Given the description of an element on the screen output the (x, y) to click on. 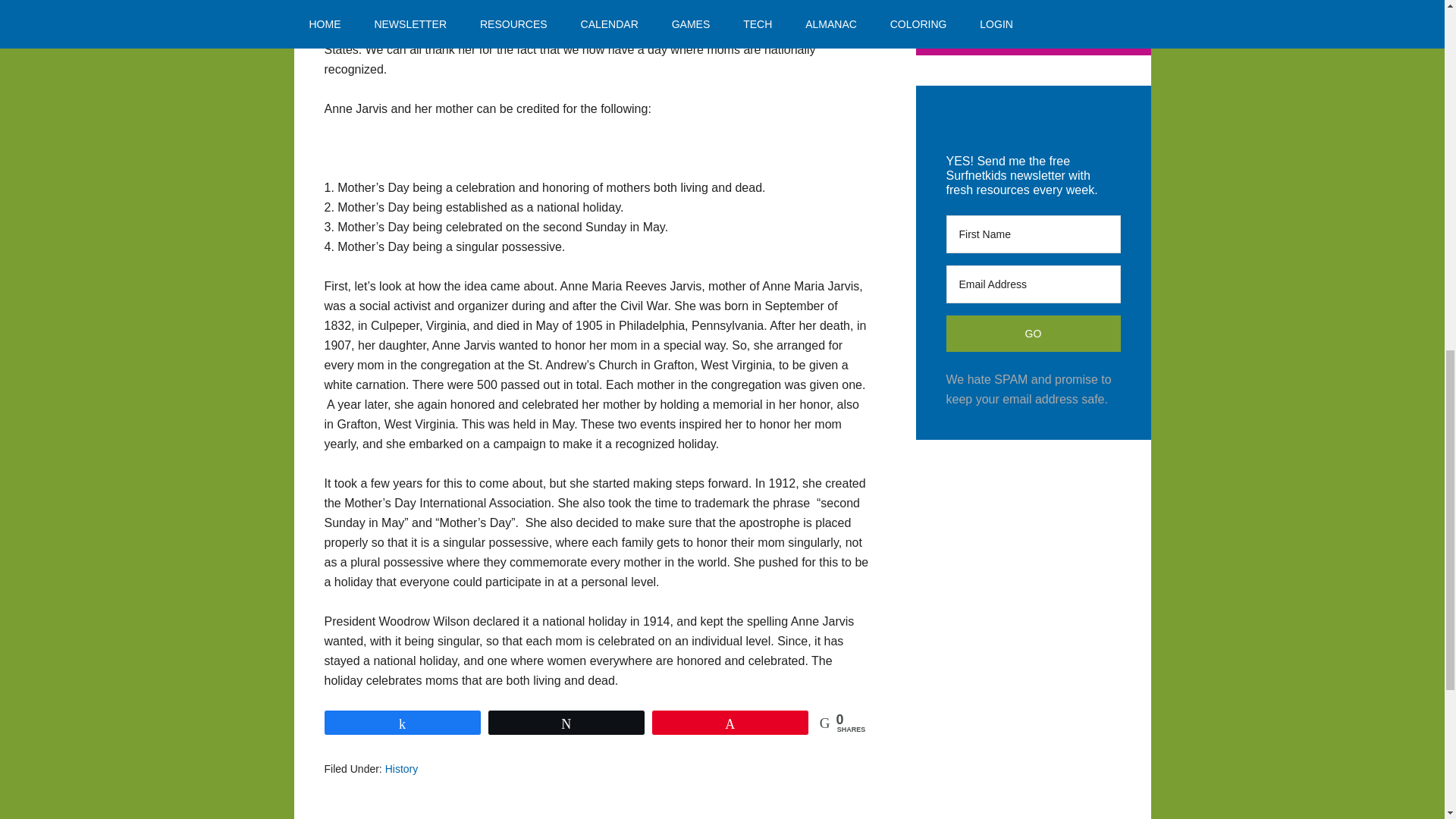
Go (1033, 333)
